Given the description of an element on the screen output the (x, y) to click on. 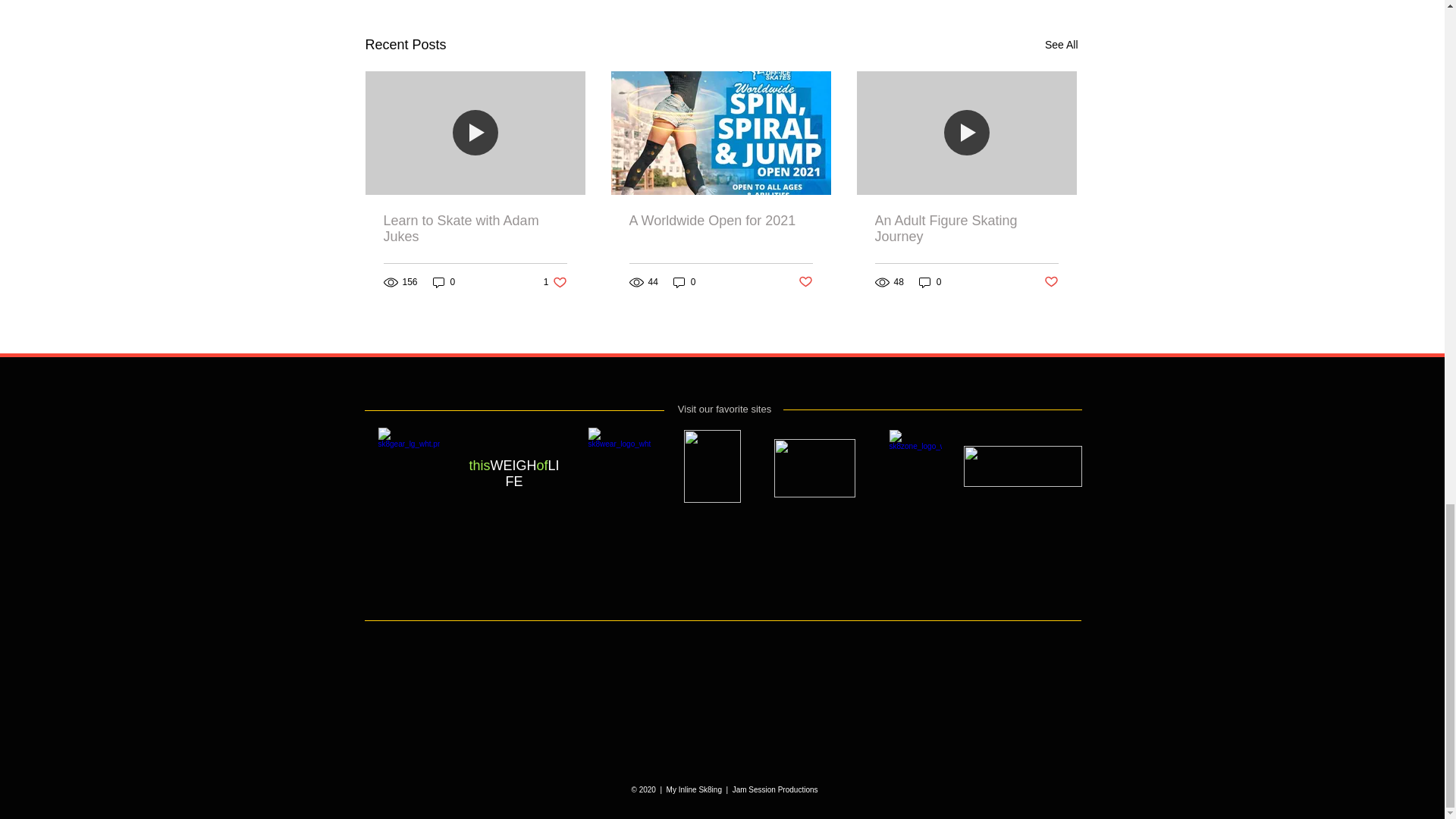
logo-harmony-sports copy.png (1021, 465)
